Given the description of an element on the screen output the (x, y) to click on. 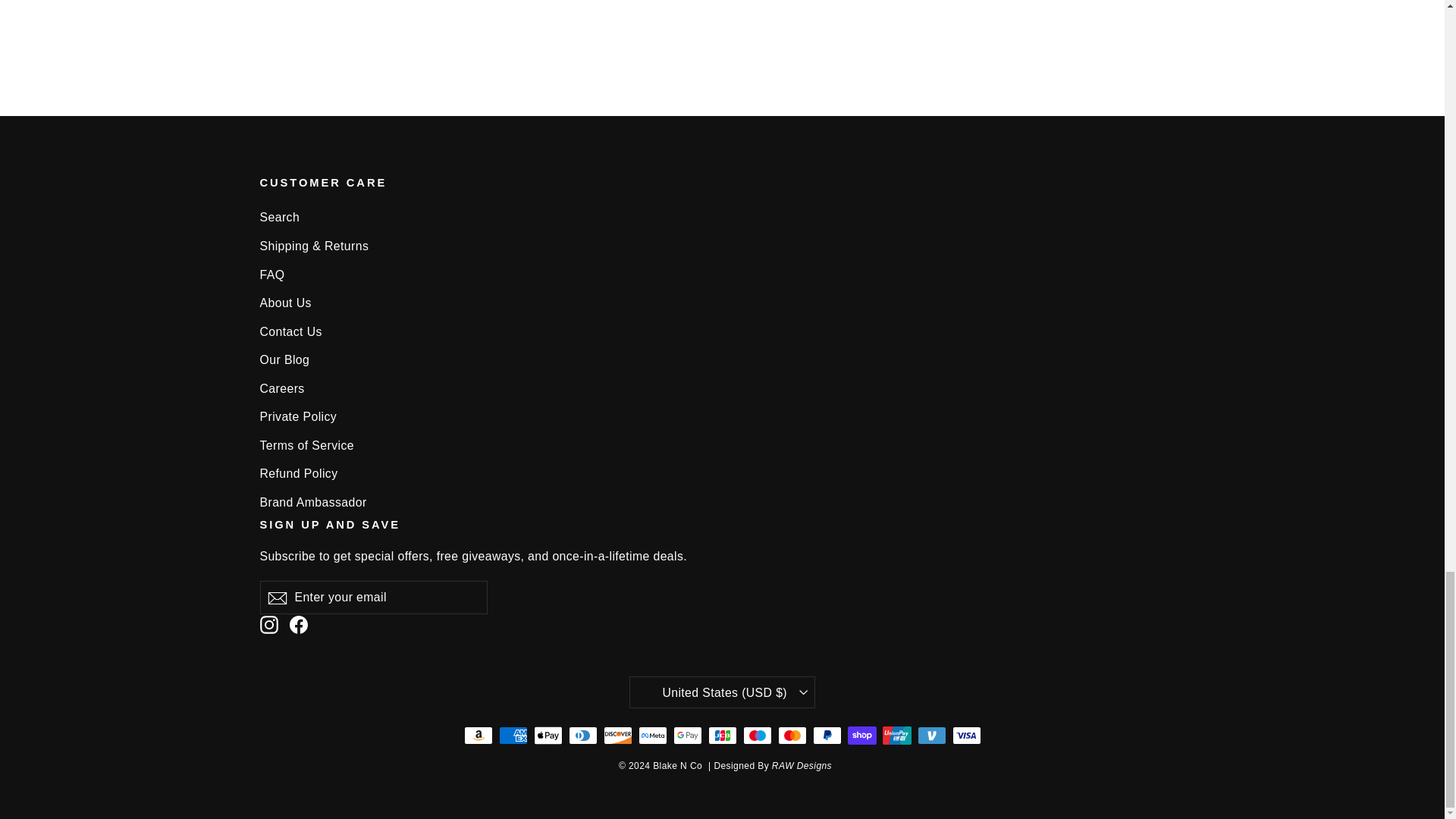
Amazon (478, 735)
American Express (513, 735)
Blake N Co on Facebook (298, 624)
